Given the description of an element on the screen output the (x, y) to click on. 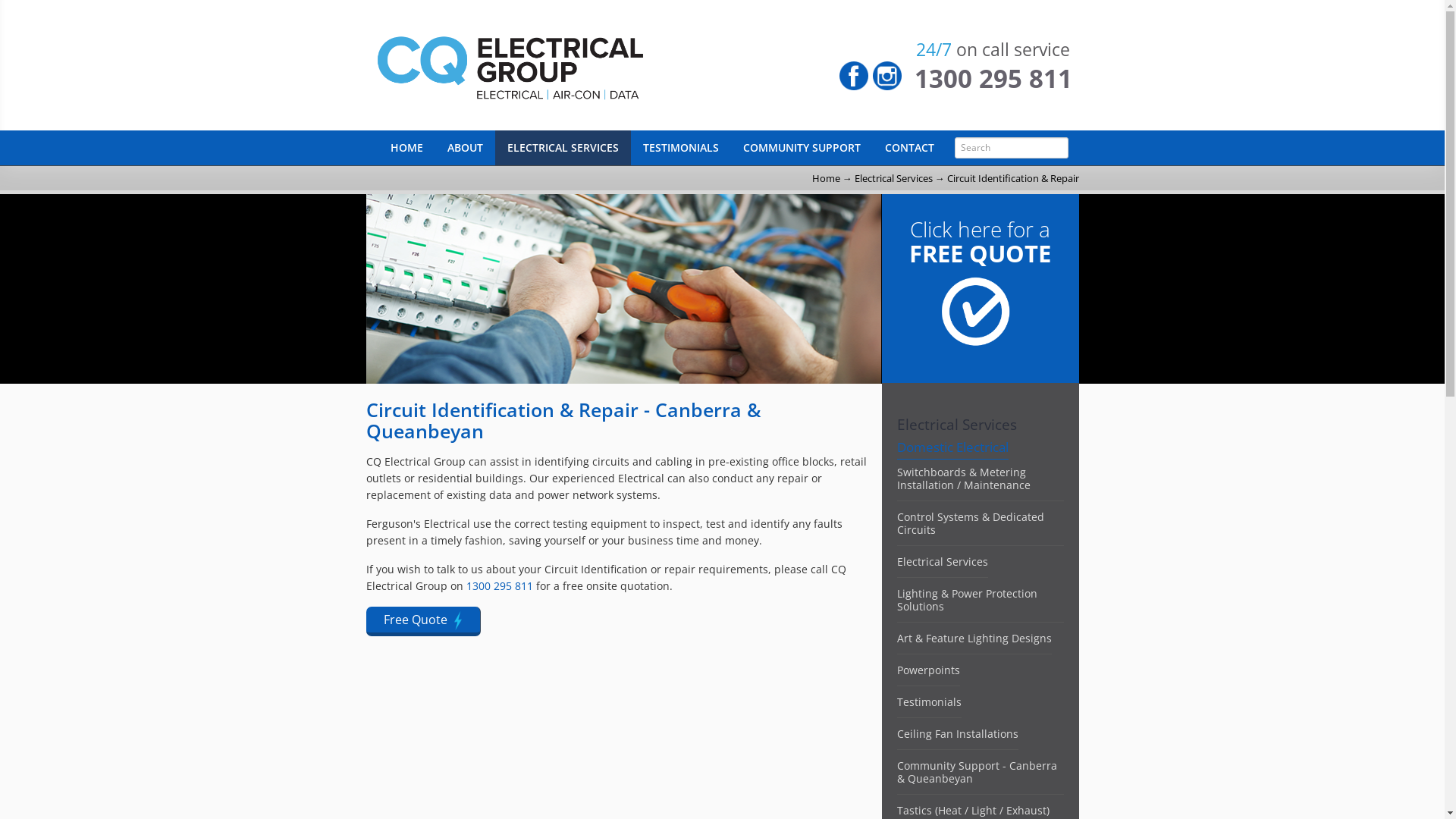
Ceiling Fan Installations Element type: text (956, 733)
Control Systems & Dedicated Circuits Element type: text (969, 522)
COMMUNITY SUPPORT Element type: text (801, 147)
Electrical Services Element type: text (941, 561)
Powerpoints Element type: text (927, 669)
Enter the terms you wish to search for. Element type: hover (1010, 147)
Home Element type: text (825, 178)
Home Element type: hover (570, 64)
Electrical Services Element type: text (892, 178)
Click here for a
FREE QUOTE Element type: text (980, 316)
ELECTRICAL SERVICES Element type: text (562, 147)
HOME Element type: text (405, 147)
Skip to main content Element type: text (47, 0)
Art & Feature Lighting Designs Element type: text (973, 637)
Switchboards & Metering Installation / Maintenance Element type: text (962, 478)
Free Quote Element type: text (422, 621)
Testimonials Element type: text (928, 701)
Community Support - Canberra & Queanbeyan Element type: text (976, 771)
Lighting & Power Protection Solutions Element type: text (966, 599)
ABOUT Element type: text (465, 147)
1300 295 811 Element type: text (498, 585)
1300 295 811 Element type: text (993, 78)
TESTIMONIALS Element type: text (680, 147)
CONTACT Element type: text (908, 147)
